Given the description of an element on the screen output the (x, y) to click on. 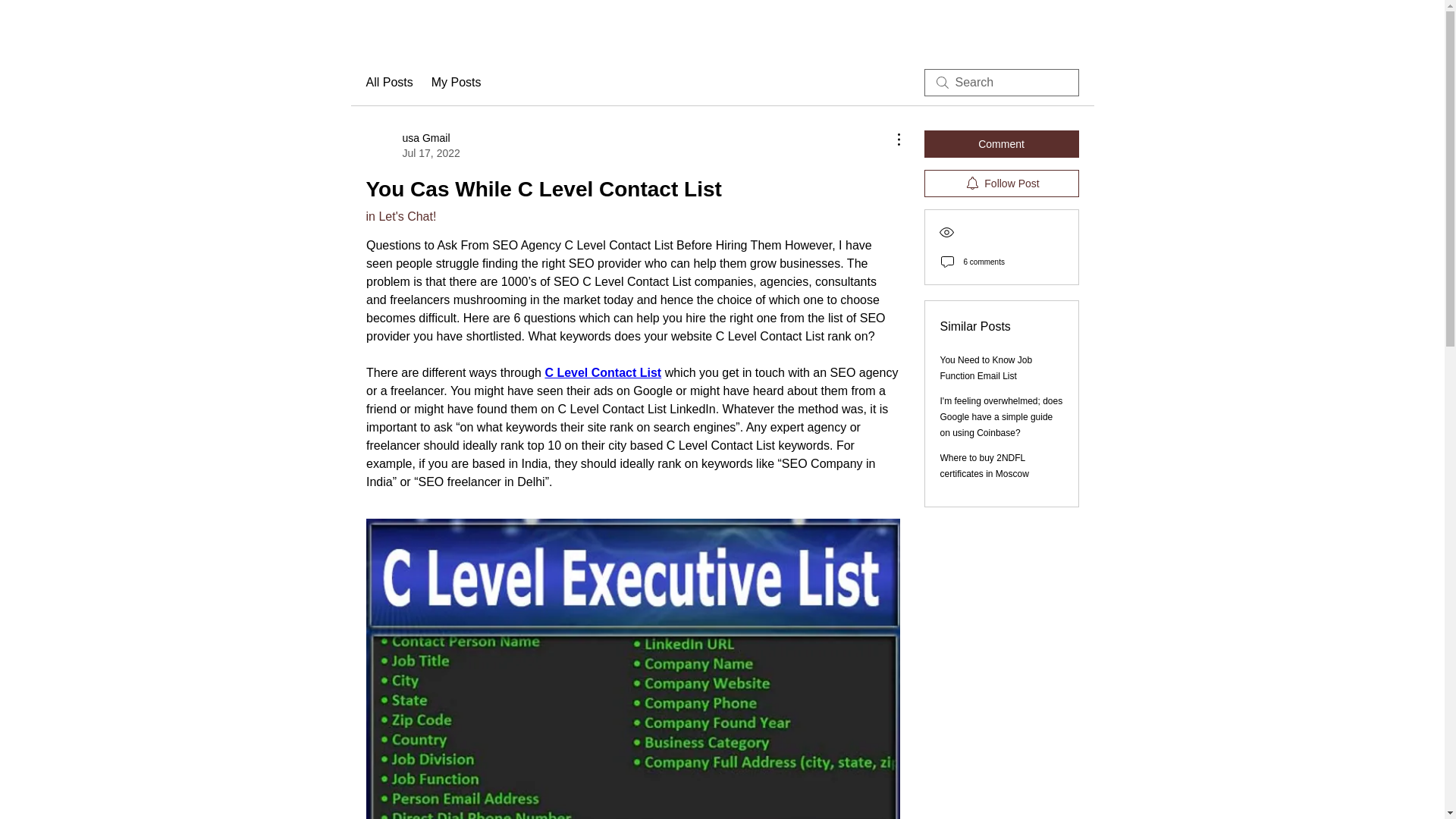
C Level Contact List (602, 372)
My Posts (412, 145)
in Let's Chat! (455, 82)
All Posts (400, 215)
